Given the description of an element on the screen output the (x, y) to click on. 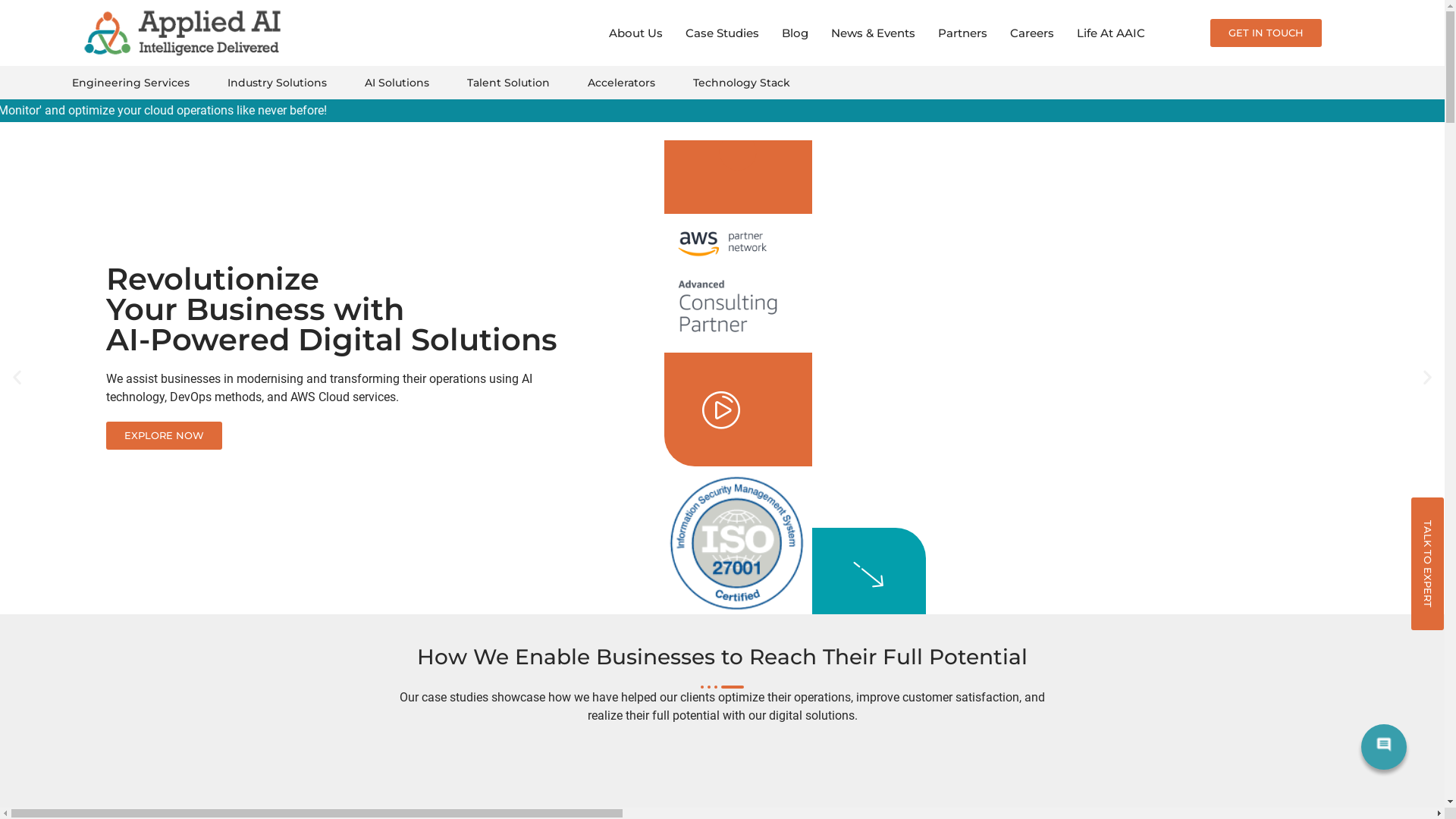
Case Studies Element type: text (722, 32)
Talent Solution Element type: text (508, 82)
AI Solutions Element type: text (396, 82)
Careers Element type: text (1031, 32)
Partners Element type: text (962, 32)
Industry Solutions Element type: text (276, 82)
Technology Stack Element type: text (741, 82)
Life At AAIC Element type: text (1110, 32)
EXPLORE NOW Element type: text (164, 435)
Accelerators Element type: text (621, 82)
About Us Element type: text (635, 32)
Blog Element type: text (794, 32)
GET IN TOUCH Element type: text (1265, 32)
Engineering Services Element type: text (130, 82)
News & Events Element type: text (872, 32)
